Given the description of an element on the screen output the (x, y) to click on. 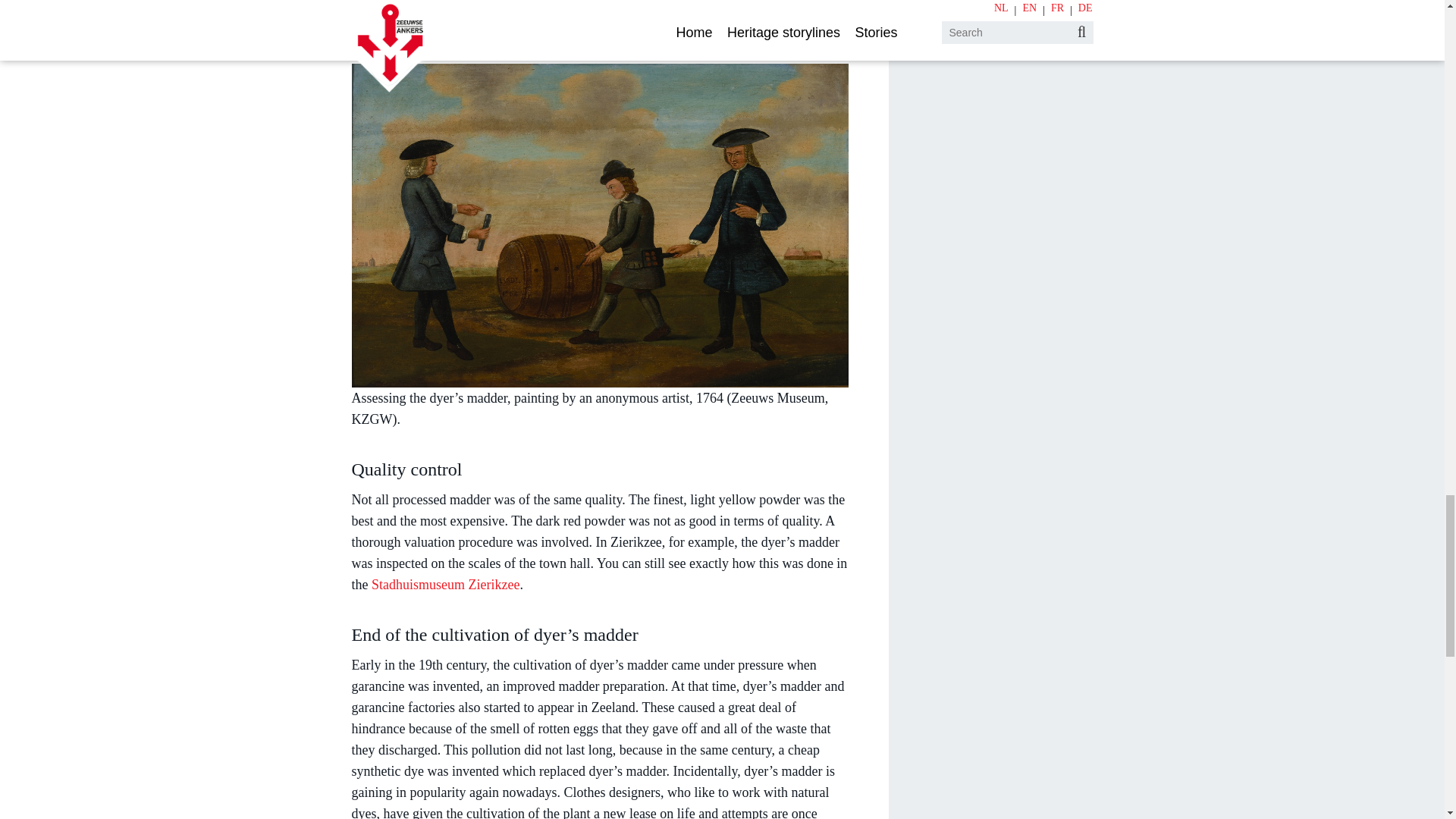
video (366, 25)
Stadhuismuseum Zierikzee (445, 584)
